Given the description of an element on the screen output the (x, y) to click on. 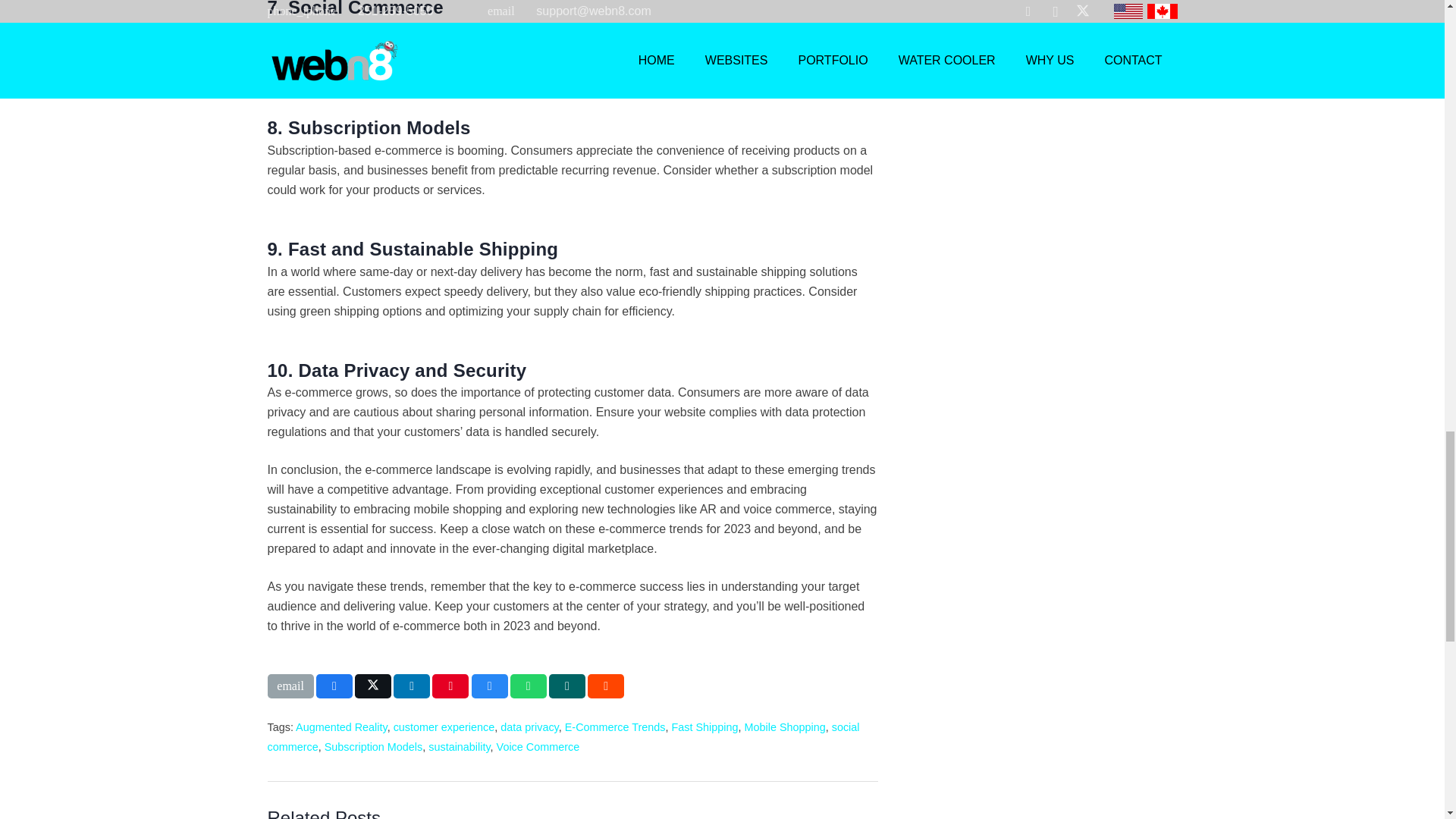
Augmented Reality (341, 727)
Pin this (450, 686)
Mobile Shopping (784, 727)
social commerce (562, 736)
Share this (333, 686)
Voice Commerce (537, 746)
Share this (606, 686)
customer experience (444, 727)
Tweet this (373, 686)
Email this (289, 686)
Subscription Models (373, 746)
Share this (411, 686)
E-Commerce Trends (614, 727)
data privacy (529, 727)
sustainability (458, 746)
